Given the description of an element on the screen output the (x, y) to click on. 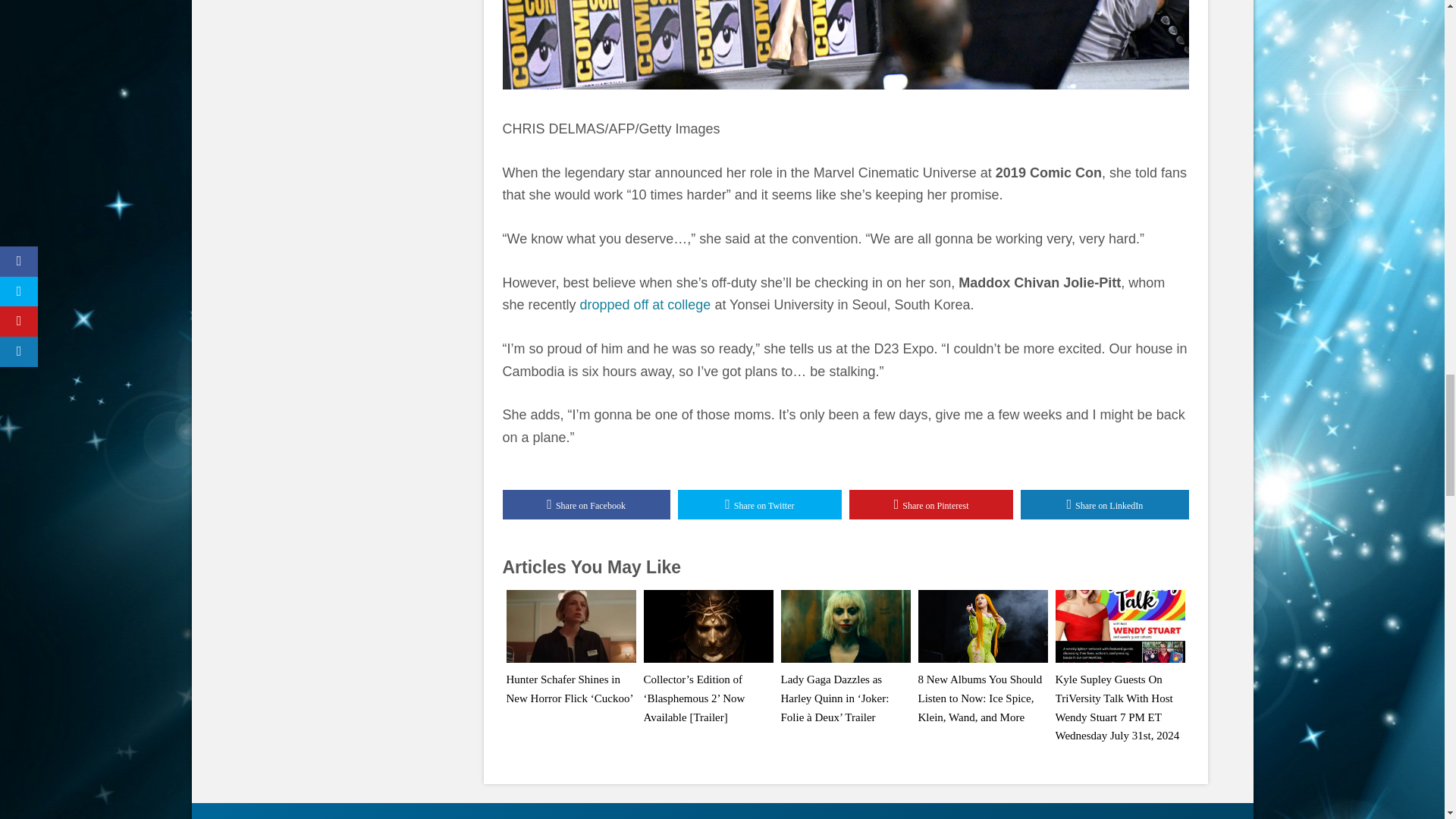
Angelina Jolie, Comic-Con 2019 (845, 44)
